Given the description of an element on the screen output the (x, y) to click on. 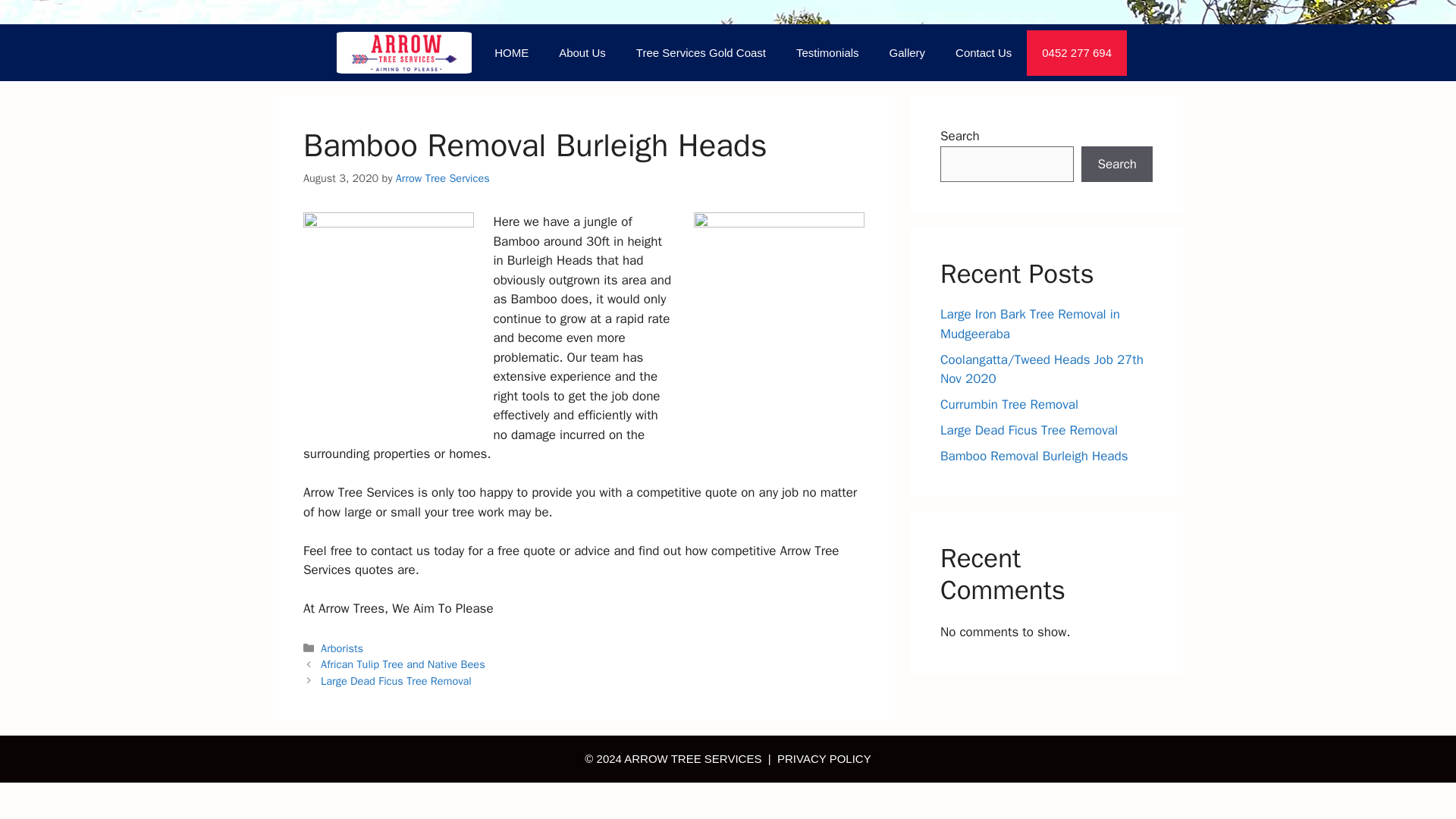
Gallery (907, 53)
Search (1117, 163)
0452 277 694 (1076, 53)
Arrow Tree Services (442, 178)
Large Dead Ficus Tree Removal (395, 680)
Large Dead Ficus Tree Removal (1029, 430)
Arrow Tree Services (403, 52)
Tree Services Gold Coast (700, 53)
Bamboo Removal Burleigh Heads (1034, 455)
Currumbin Tree Removal (1009, 404)
